Given the description of an element on the screen output the (x, y) to click on. 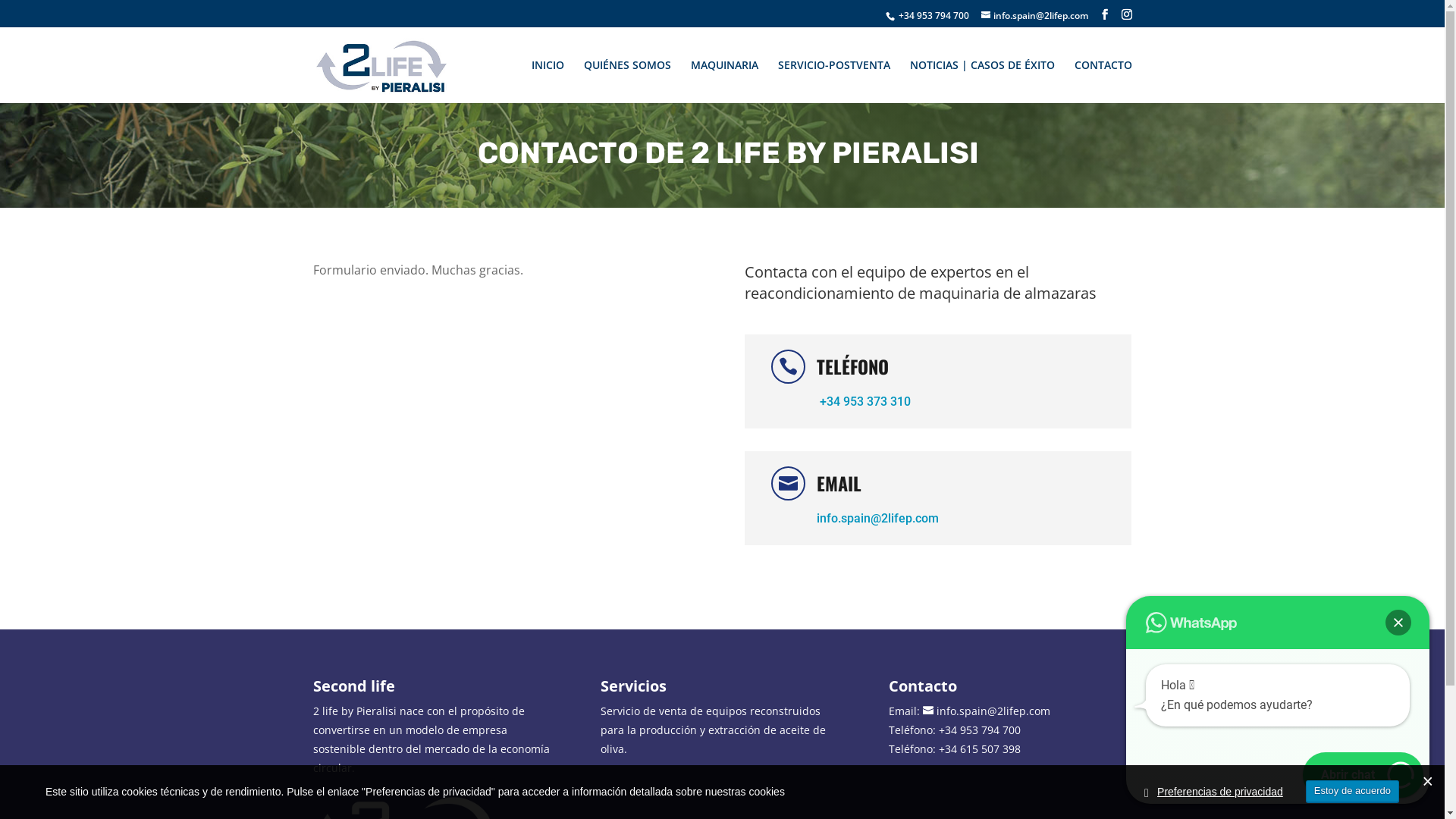
Preferencias de privacidad Element type: text (1219, 791)
Estoy de acuerdo Element type: text (1352, 791)
 +34 953 373 310 Element type: text (863, 401)
SERVICIO-POSTVENTA Element type: text (834, 77)
MAQUINARIA Element type: text (723, 77)
Cerrar Element type: hover (1398, 622)
info.spain@2lifep.com Element type: text (986, 710)
info.spain@2lifep.com Element type: text (1034, 15)
CONTACTO Element type: text (1102, 77)
info.spain@2lifep.com Element type: text (877, 518)
INICIO Element type: text (546, 77)
